Given the description of an element on the screen output the (x, y) to click on. 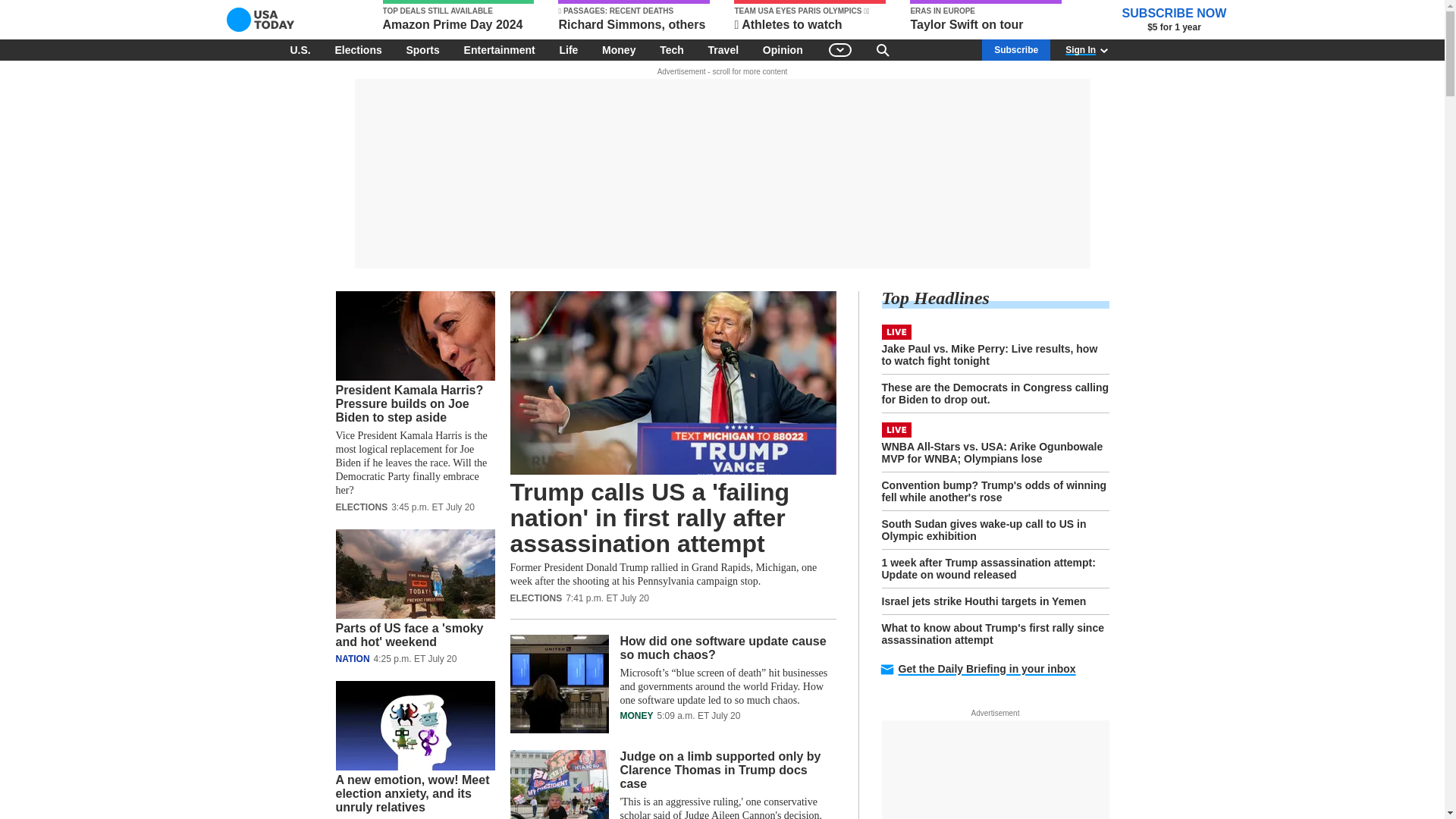
Taylor Swift on tour (985, 17)
Travel (722, 49)
Money (618, 49)
Amazon Prime Day 2024 (457, 17)
U.S. (299, 49)
Entertainment (500, 49)
Search (882, 49)
Elections (357, 49)
Richard Simmons, others (633, 17)
3rd party ad content (721, 173)
Sports (421, 49)
Life (568, 49)
Opinion (782, 49)
Tech (671, 49)
